Given the description of an element on the screen output the (x, y) to click on. 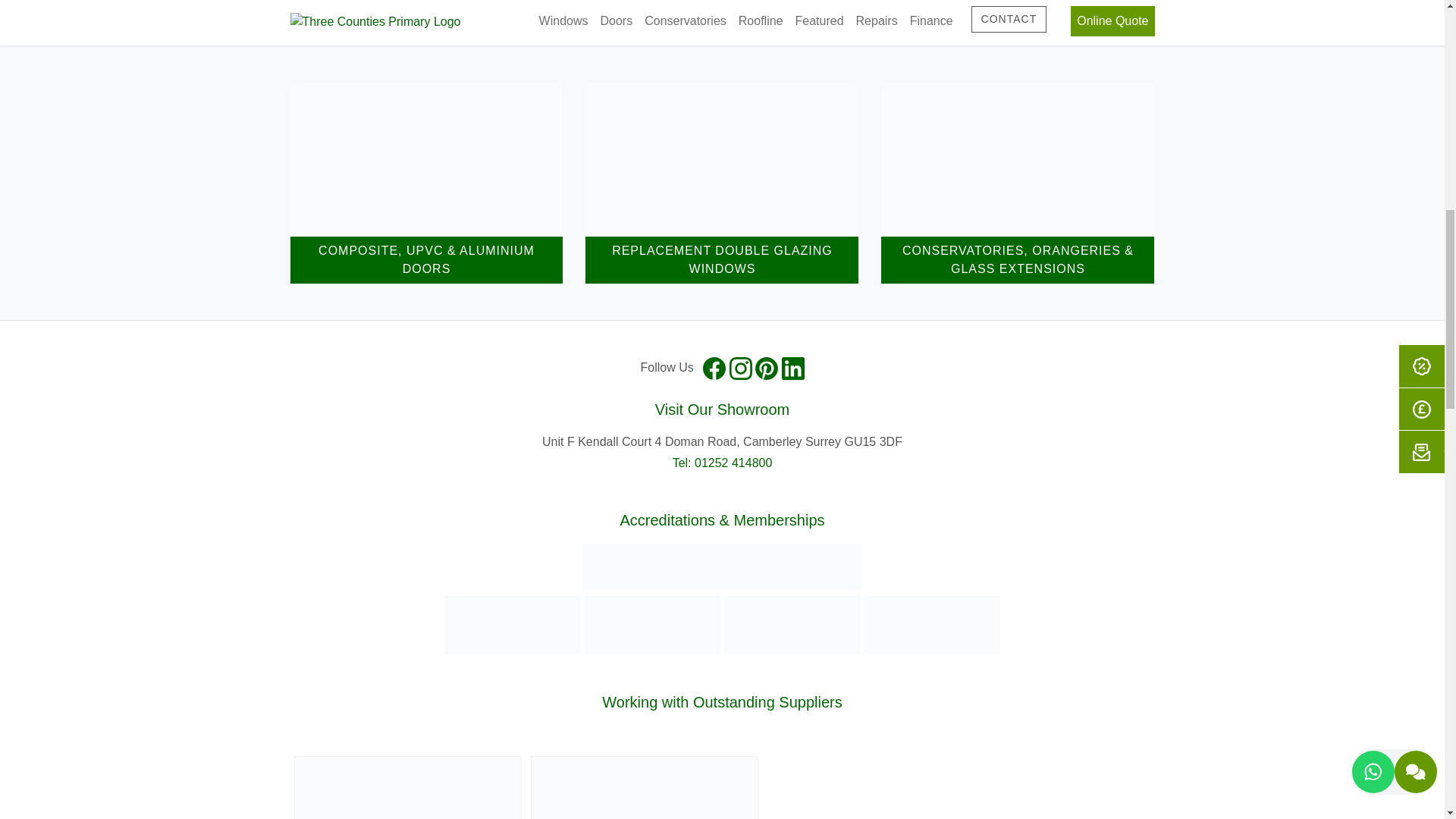
LinkedinIcon for linkedin (793, 368)
FacebookIcon for facebook (714, 368)
InstagramIcon for instagram (740, 368)
PinterestIcon for pinterest (766, 368)
